Given the description of an element on the screen output the (x, y) to click on. 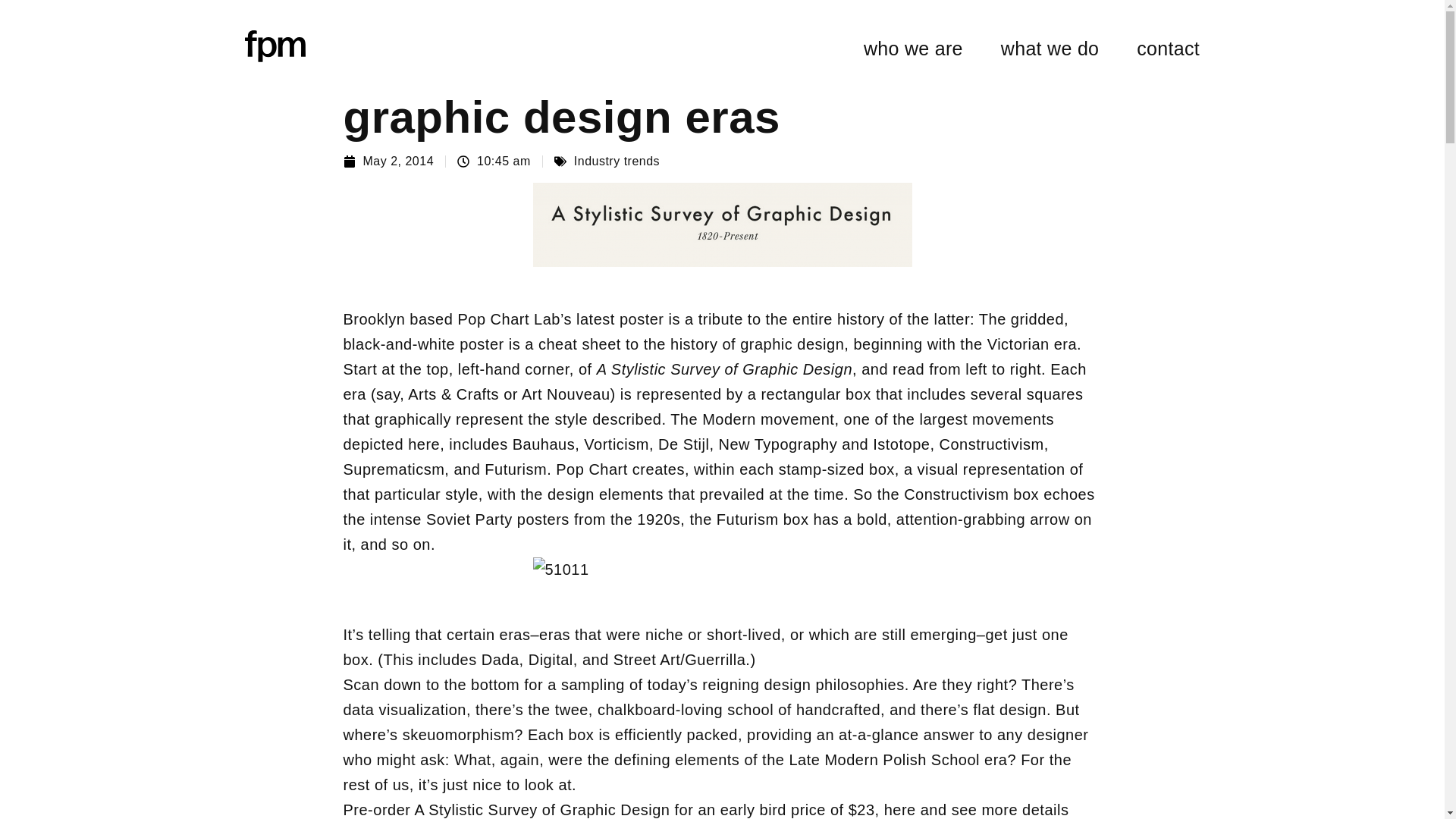
contact (1168, 48)
May 2, 2014 (387, 161)
skeuomorphism (459, 734)
who we are (912, 48)
what we do (1050, 48)
51011 (721, 569)
A Stylistic Survey of Graphic Design (723, 369)
Industry trends (616, 160)
screen-shot-2014-05-01-at-42803-pm (721, 224)
here (899, 809)
